Given the description of an element on the screen output the (x, y) to click on. 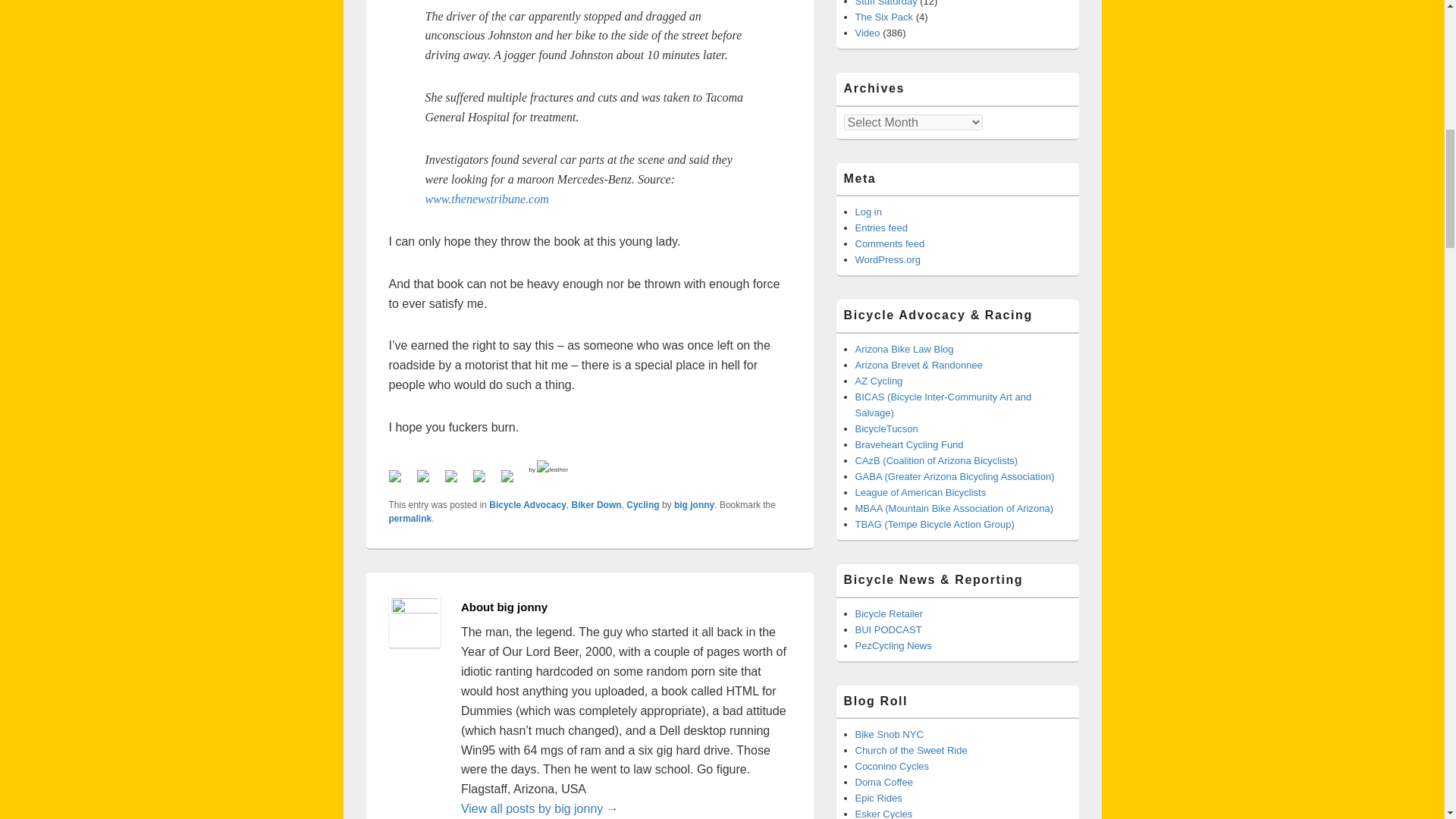
big jonny (694, 504)
Share on Facebook (400, 482)
permalink (409, 518)
Bicycle Advocacy (527, 504)
Cycling (642, 504)
www.thenewstribune.com (486, 198)
by (549, 469)
Biker Down (596, 504)
